Given the description of an element on the screen output the (x, y) to click on. 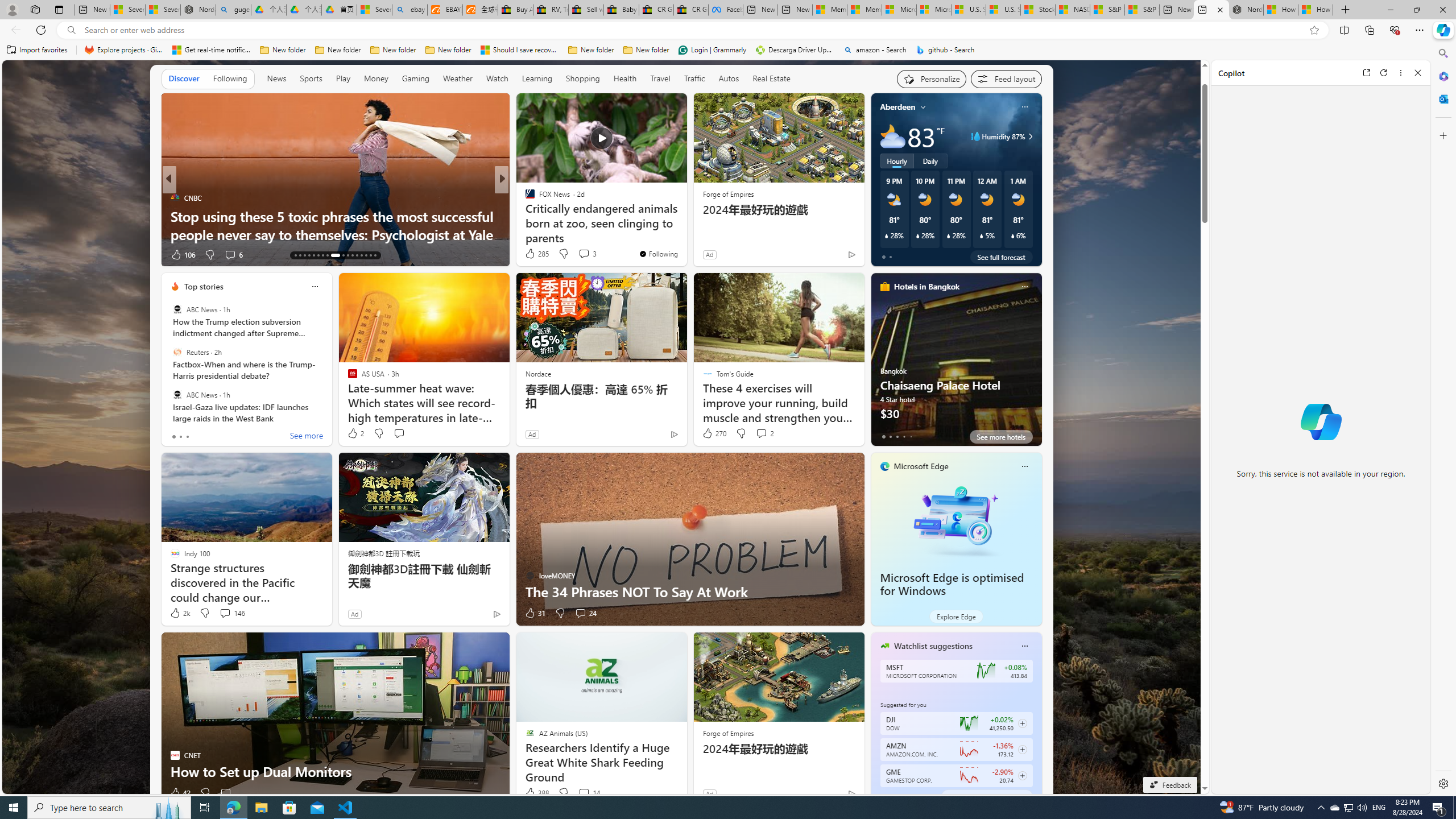
Watchlist suggestions (932, 646)
AutomationID: tab-39 (361, 255)
31 Like (534, 612)
AutomationID: tab-24 (352, 255)
Don't trust AI for these 4 things (684, 234)
Microsoft Edge (921, 466)
AutomationID: tab-16 (309, 255)
View comments 146 Comment (231, 612)
New folder (646, 49)
